Given the description of an element on the screen output the (x, y) to click on. 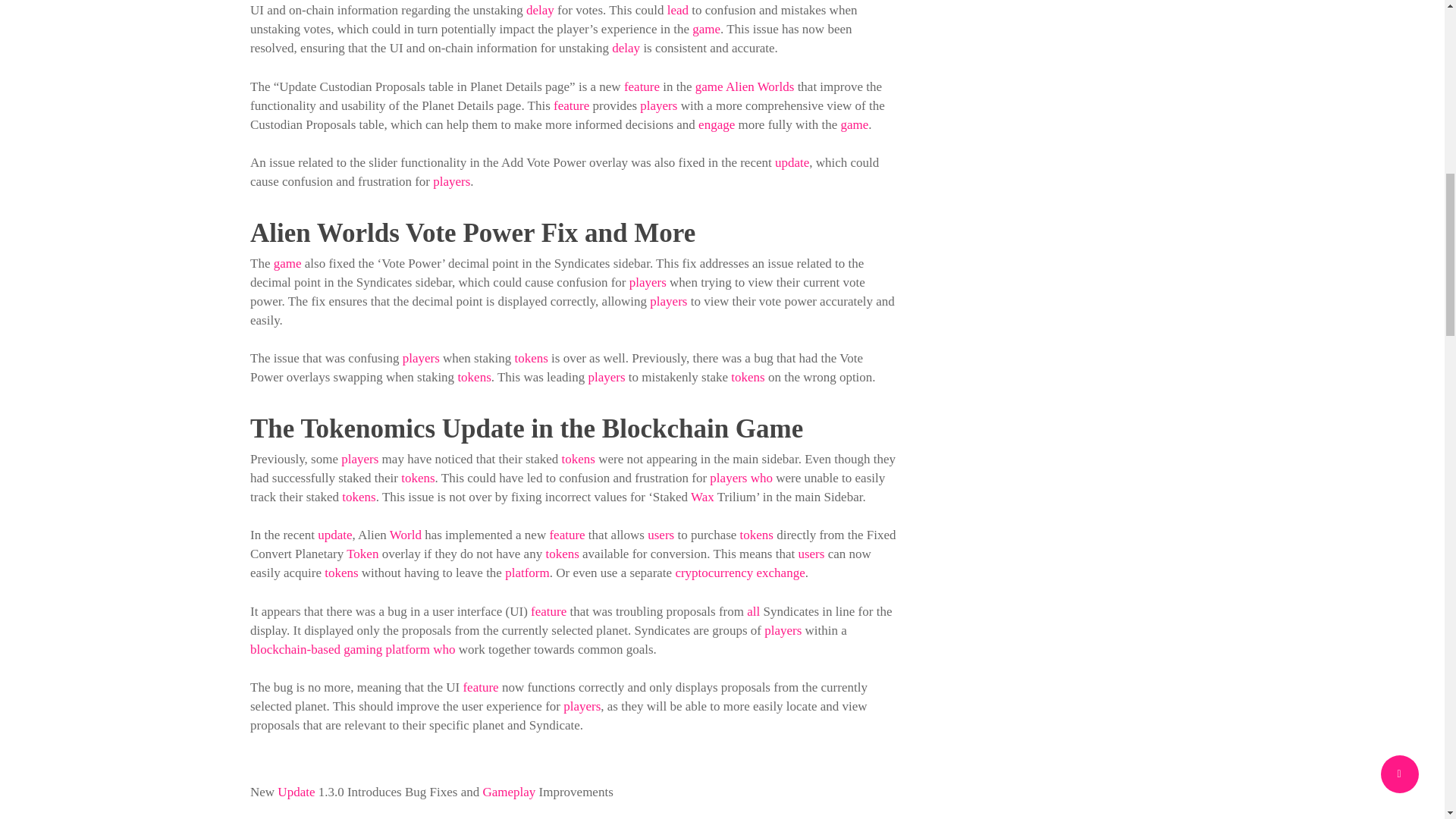
lead (677, 10)
delay (539, 10)
game (706, 29)
delay (625, 47)
